Given the description of an element on the screen output the (x, y) to click on. 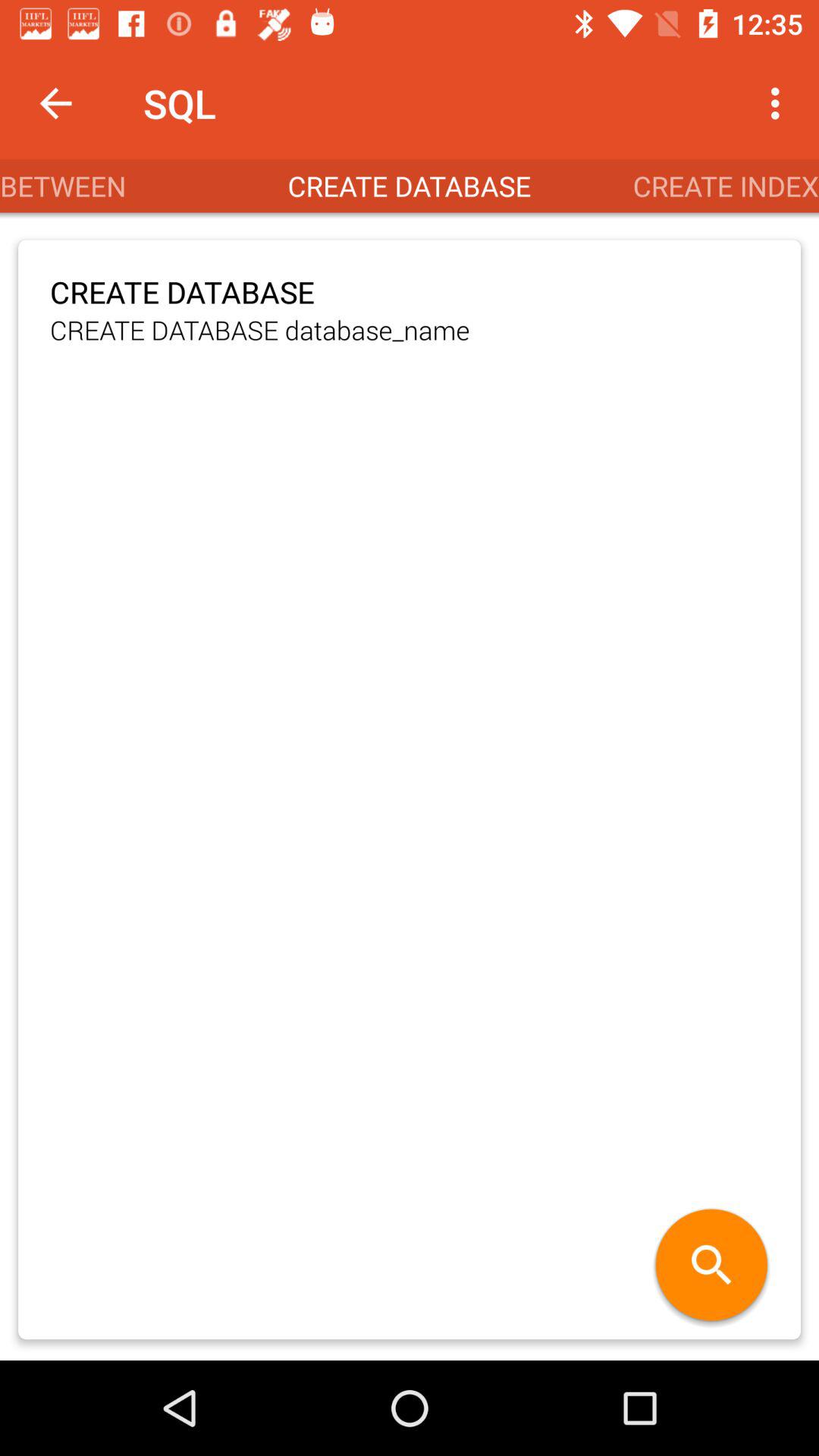
click the icon below the create database database_name icon (711, 1266)
